Given the description of an element on the screen output the (x, y) to click on. 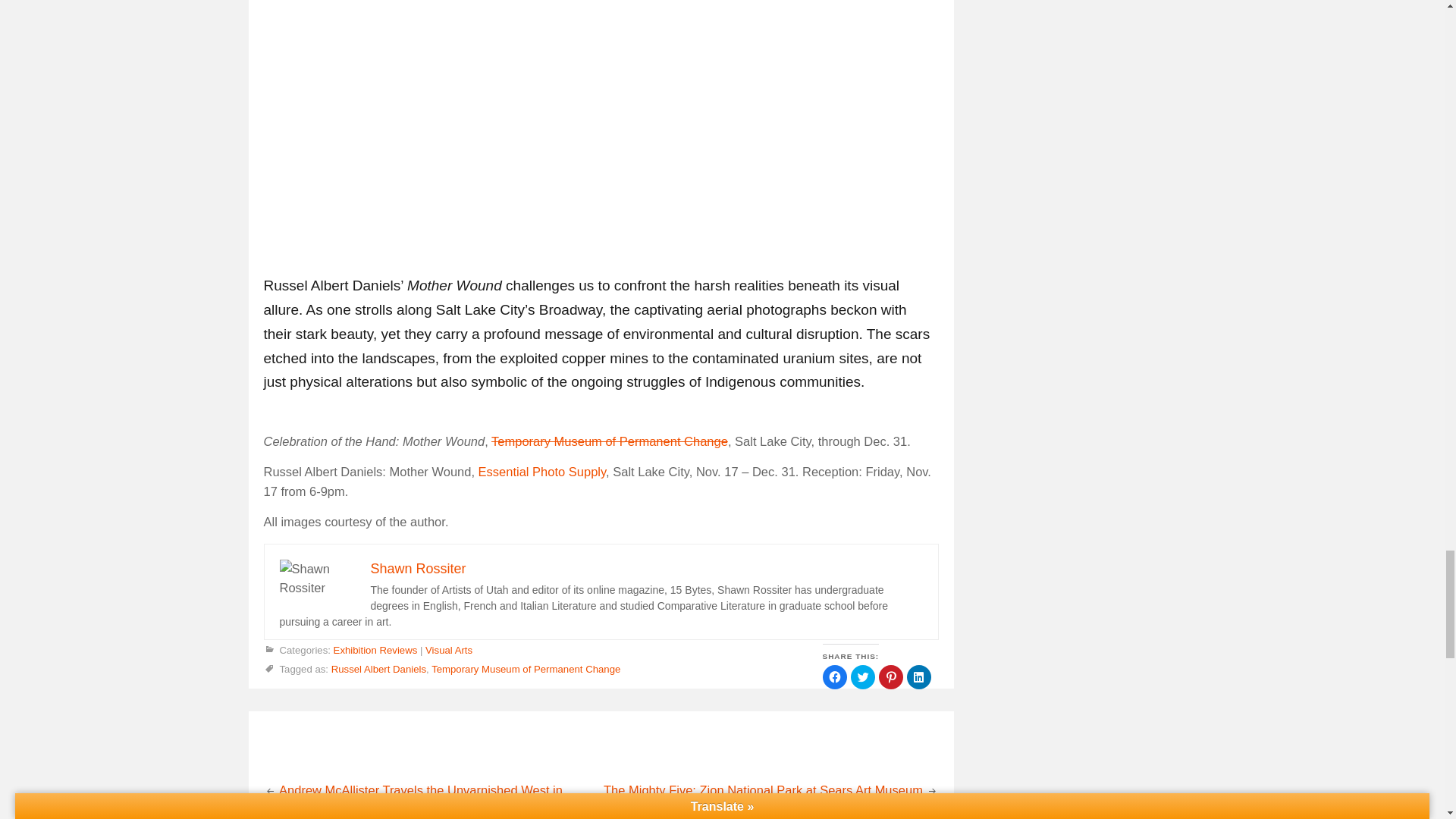
Click to share on Pinterest (889, 677)
Click to share on Facebook (833, 677)
Click to share on LinkedIn (919, 677)
Click to share on Twitter (862, 677)
